Given the description of an element on the screen output the (x, y) to click on. 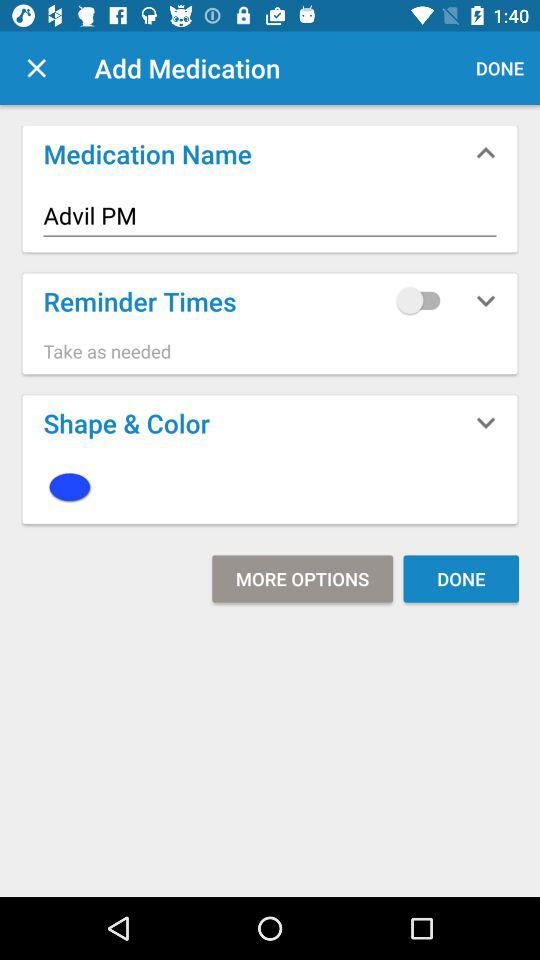
tap icon above the medication name (36, 68)
